Given the description of an element on the screen output the (x, y) to click on. 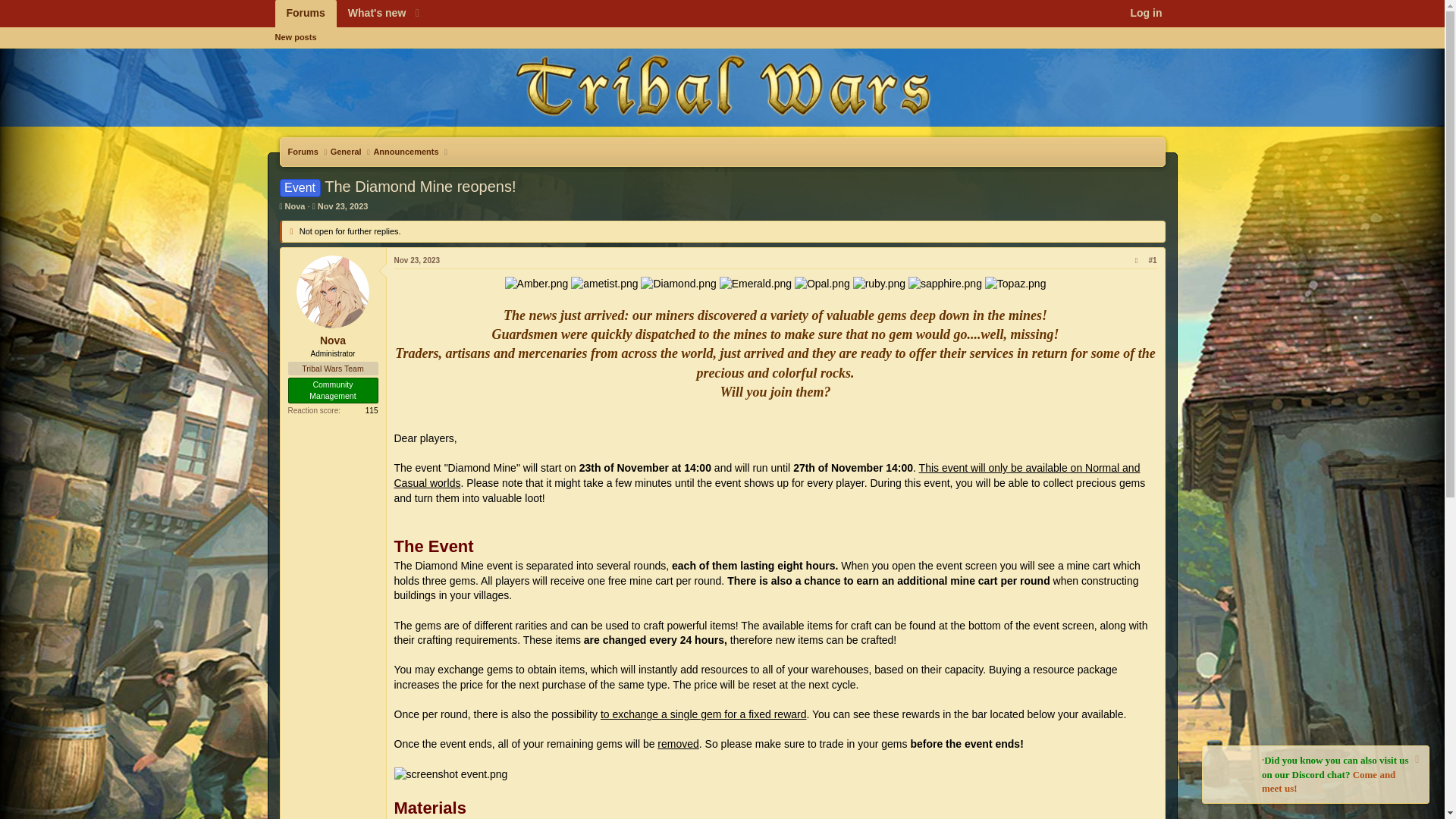
Nova (333, 340)
Forums (303, 151)
Announcements (405, 151)
Nov 23, 2023 at 9:34 AM (342, 205)
Amber.png (537, 283)
New posts (720, 54)
Nov 23, 2023 at 9:34 AM (417, 260)
Nova (295, 205)
Nov 23, 2023 (342, 205)
sapphire.png (944, 283)
